Given the description of an element on the screen output the (x, y) to click on. 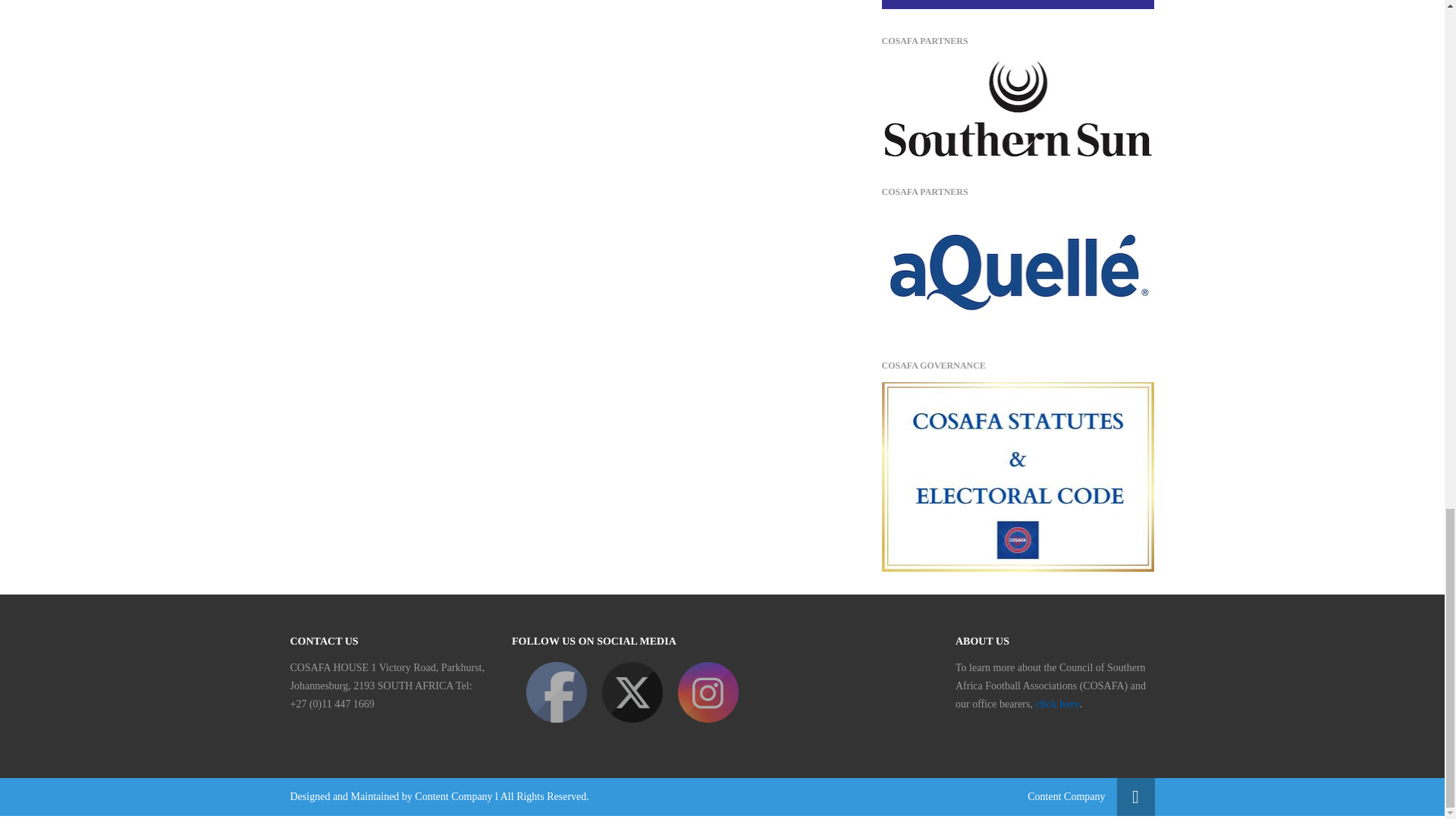
Facebook (555, 691)
Instagram (708, 691)
Twitter (632, 691)
